Given the description of an element on the screen output the (x, y) to click on. 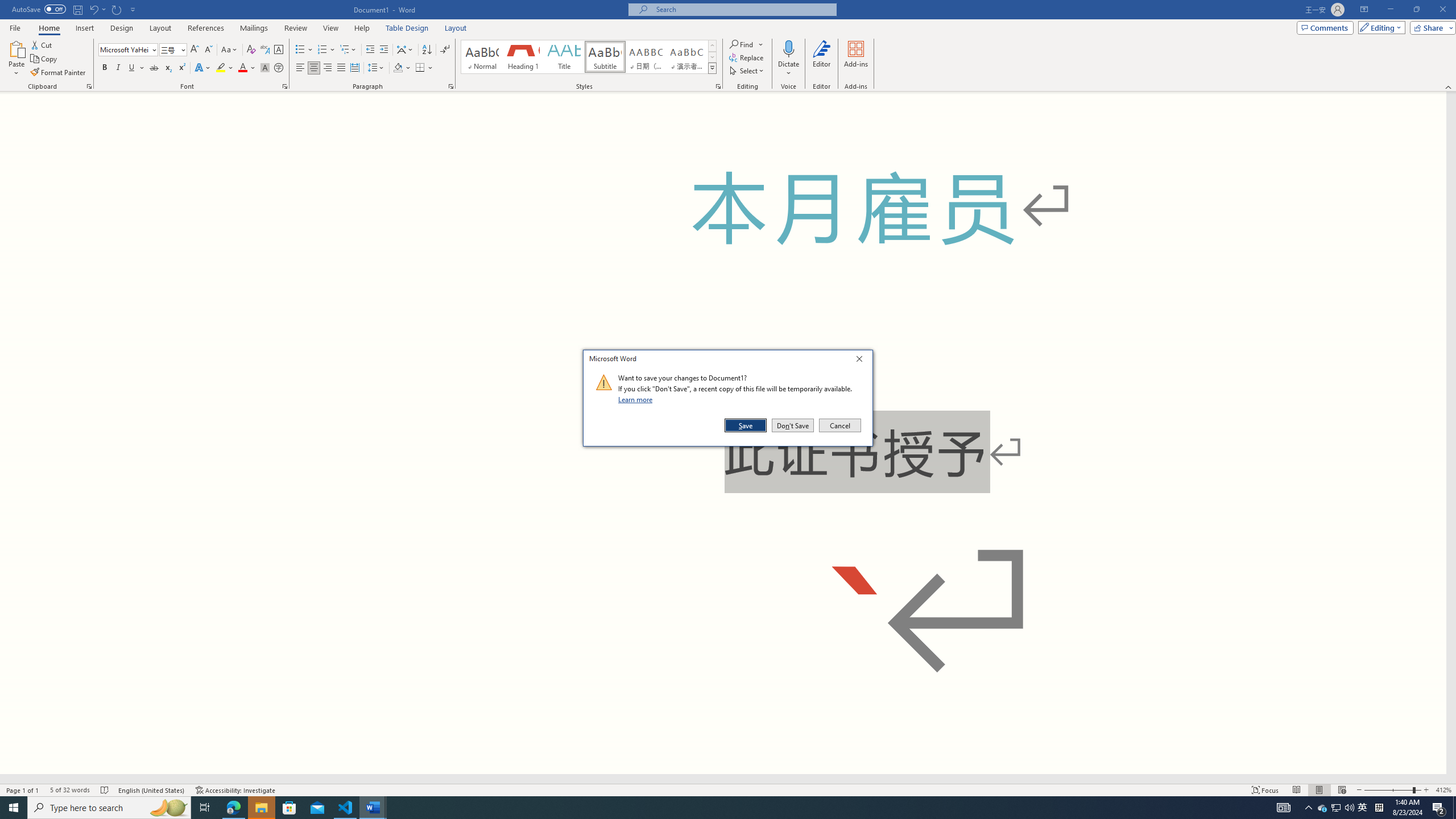
Show/Hide Editing Marks (444, 49)
Shrink Font (208, 49)
Bold (104, 67)
Shading (402, 67)
Don't Save (792, 425)
Font... (285, 85)
Justify (340, 67)
Cut (42, 44)
Asian Layout (405, 49)
Styles... (717, 85)
Cancel (839, 425)
